Given the description of an element on the screen output the (x, y) to click on. 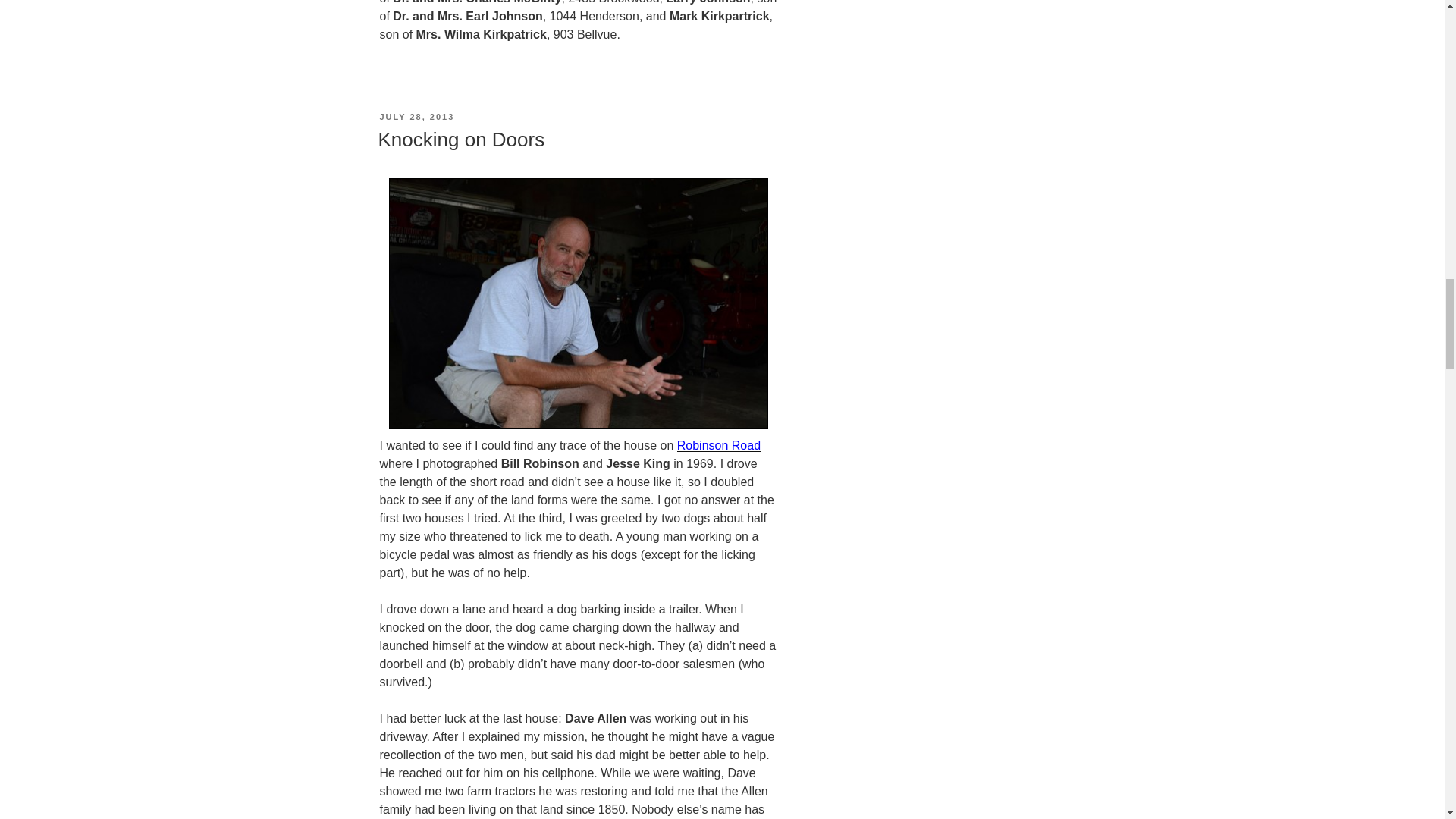
Knocking on Doors (460, 138)
JULY 28, 2013 (416, 116)
Robinson Road (718, 445)
Friends on Robinson Road (718, 445)
